Given the description of an element on the screen output the (x, y) to click on. 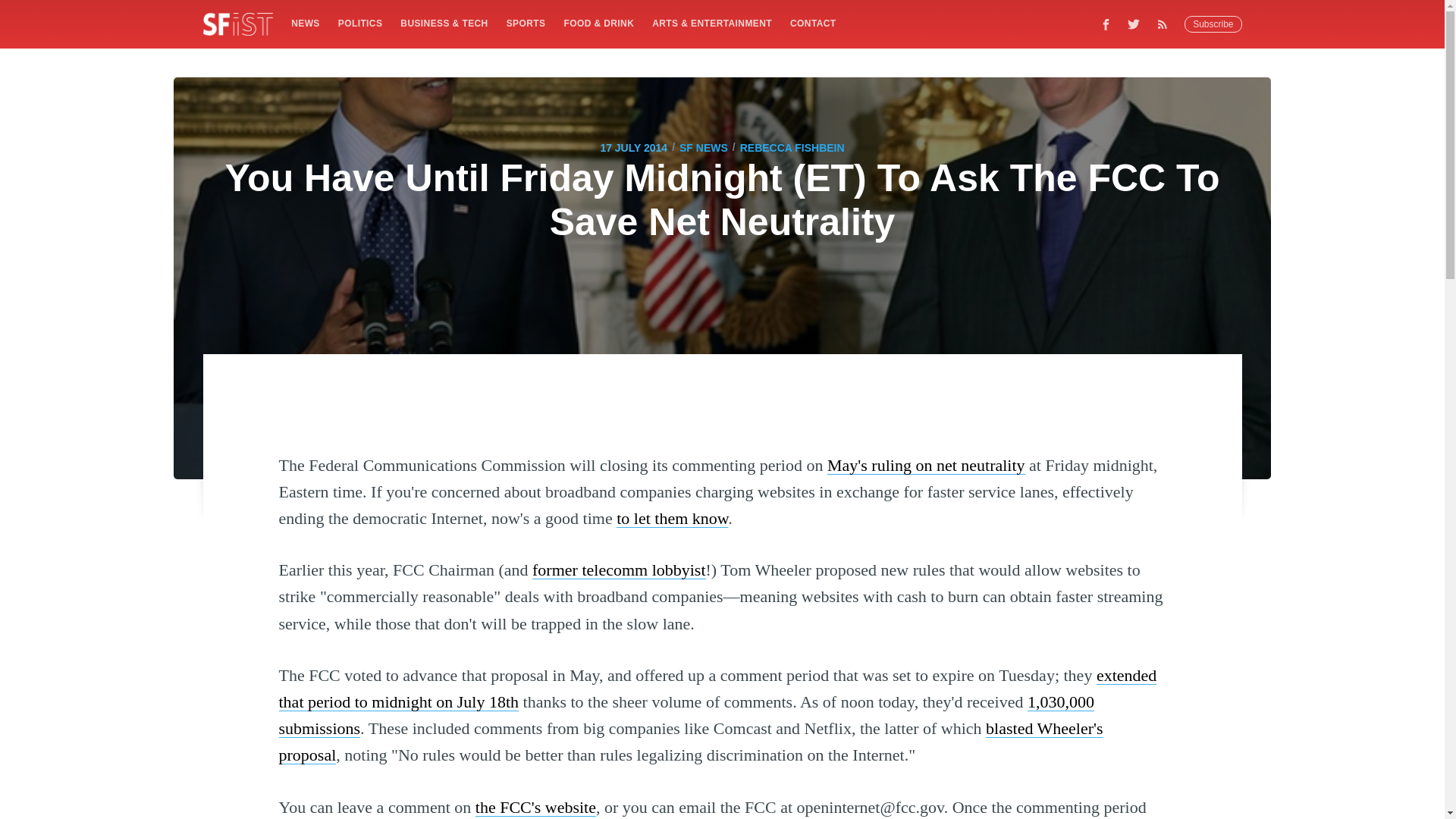
POLITICS (360, 23)
SF NEWS (703, 147)
May's ruling on net neutrality (926, 465)
1,030,000 submissions (686, 714)
Subscribe (1213, 23)
the FCC's website (535, 806)
NEWS (305, 23)
RSS (1166, 23)
SPORTS (525, 23)
Facebook (1106, 23)
REBECCA FISHBEIN (791, 147)
blasted Wheeler's proposal (691, 741)
extended that period to midnight on July 18th (718, 688)
former telecomm lobbyist (619, 569)
to let them know (671, 517)
